Given the description of an element on the screen output the (x, y) to click on. 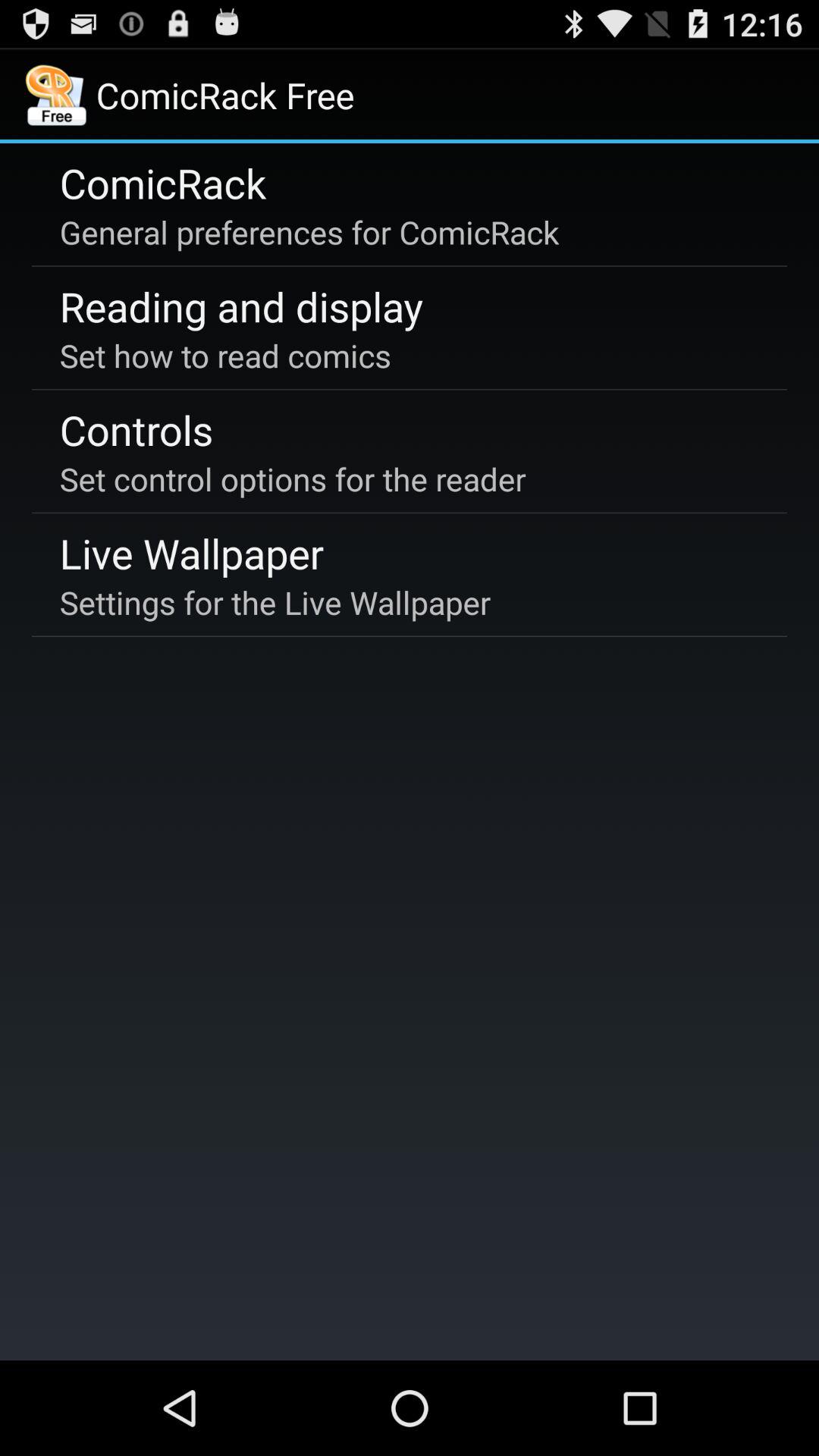
open the general preferences for icon (309, 231)
